Given the description of an element on the screen output the (x, y) to click on. 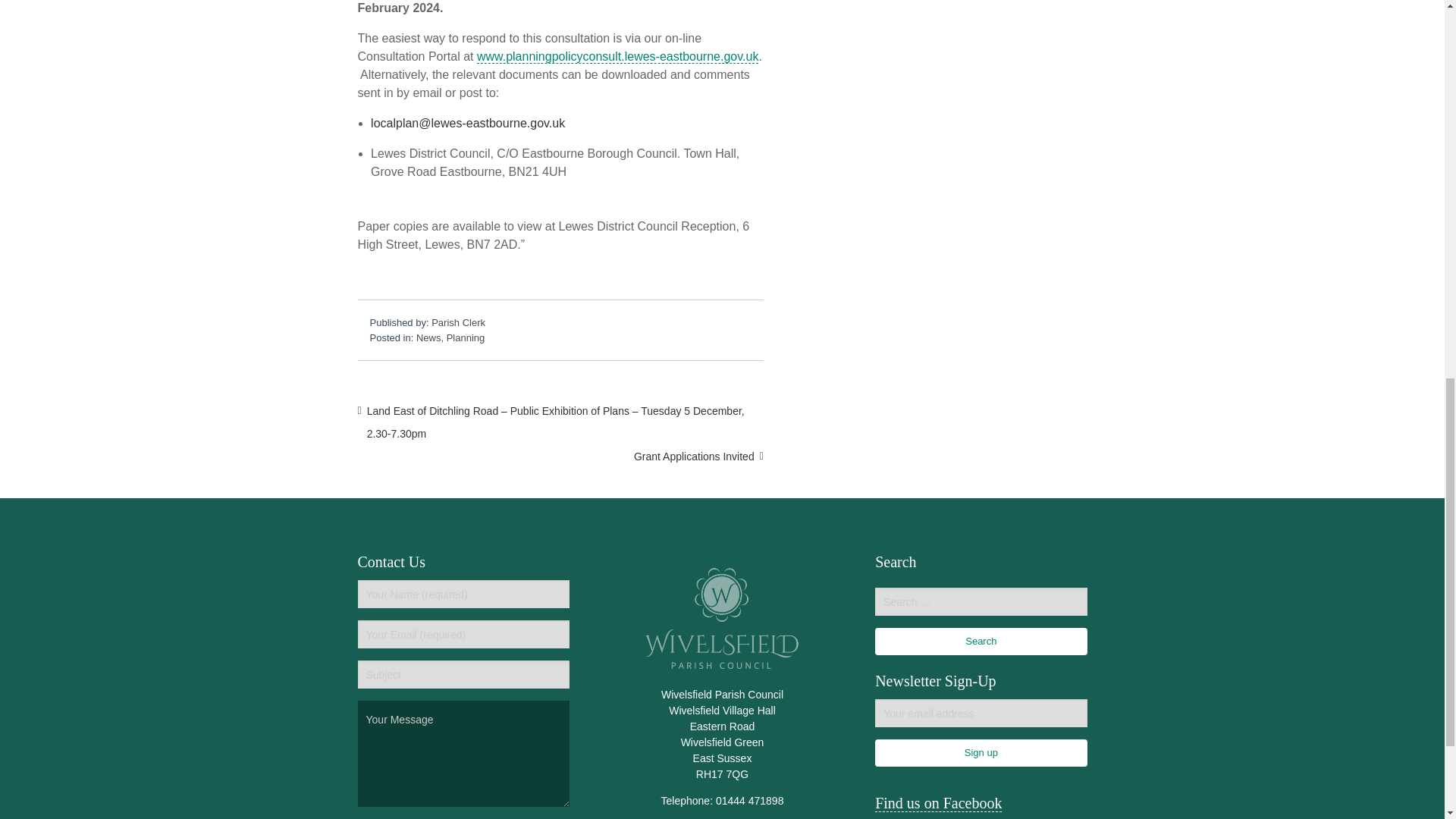
Posts by Parish Clerk (457, 322)
Search for: (980, 601)
Sign up (980, 752)
